Given the description of an element on the screen output the (x, y) to click on. 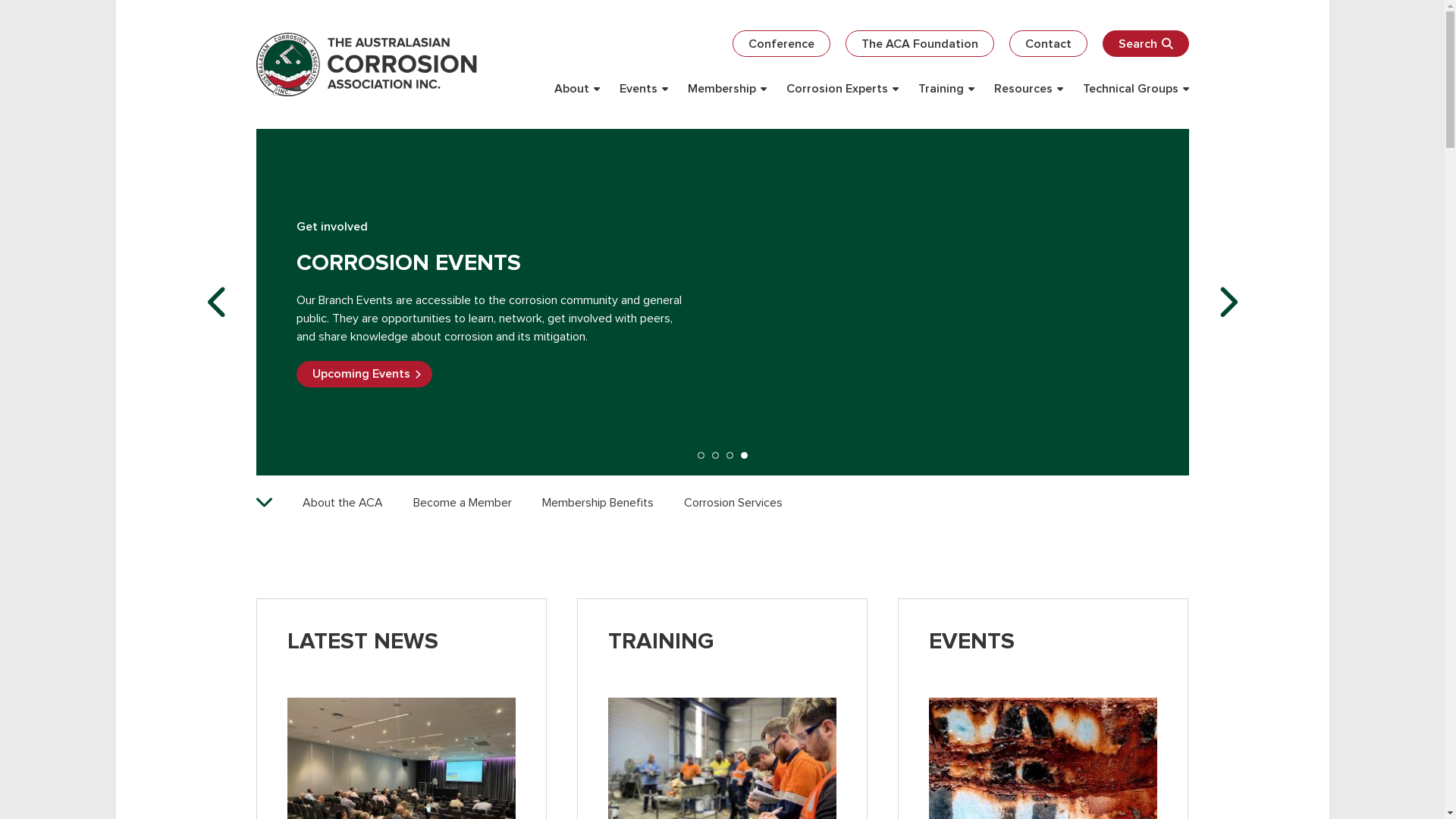
1 Element type: text (700, 454)
Search Element type: text (1145, 43)
2 Element type: text (714, 454)
The ACA Foundation Element type: text (918, 43)
Become a Member Element type: text (461, 502)
Conference Element type: text (781, 43)
Membership Element type: text (726, 88)
Training Element type: text (945, 88)
About Element type: text (576, 88)
Next Element type: text (1226, 301)
Resources Element type: text (1027, 88)
About the ACA Element type: text (341, 502)
Previous Element type: text (218, 301)
Technical Groups Element type: text (1135, 88)
3 Element type: text (729, 454)
Corrosion Experts Element type: text (841, 88)
Corrosion Services Element type: text (733, 502)
4 Element type: text (743, 454)
Membership Benefits Element type: text (596, 502)
Contact Element type: text (1047, 43)
Events Element type: text (642, 88)
View Training Programs Element type: text (381, 386)
